Given the description of an element on the screen output the (x, y) to click on. 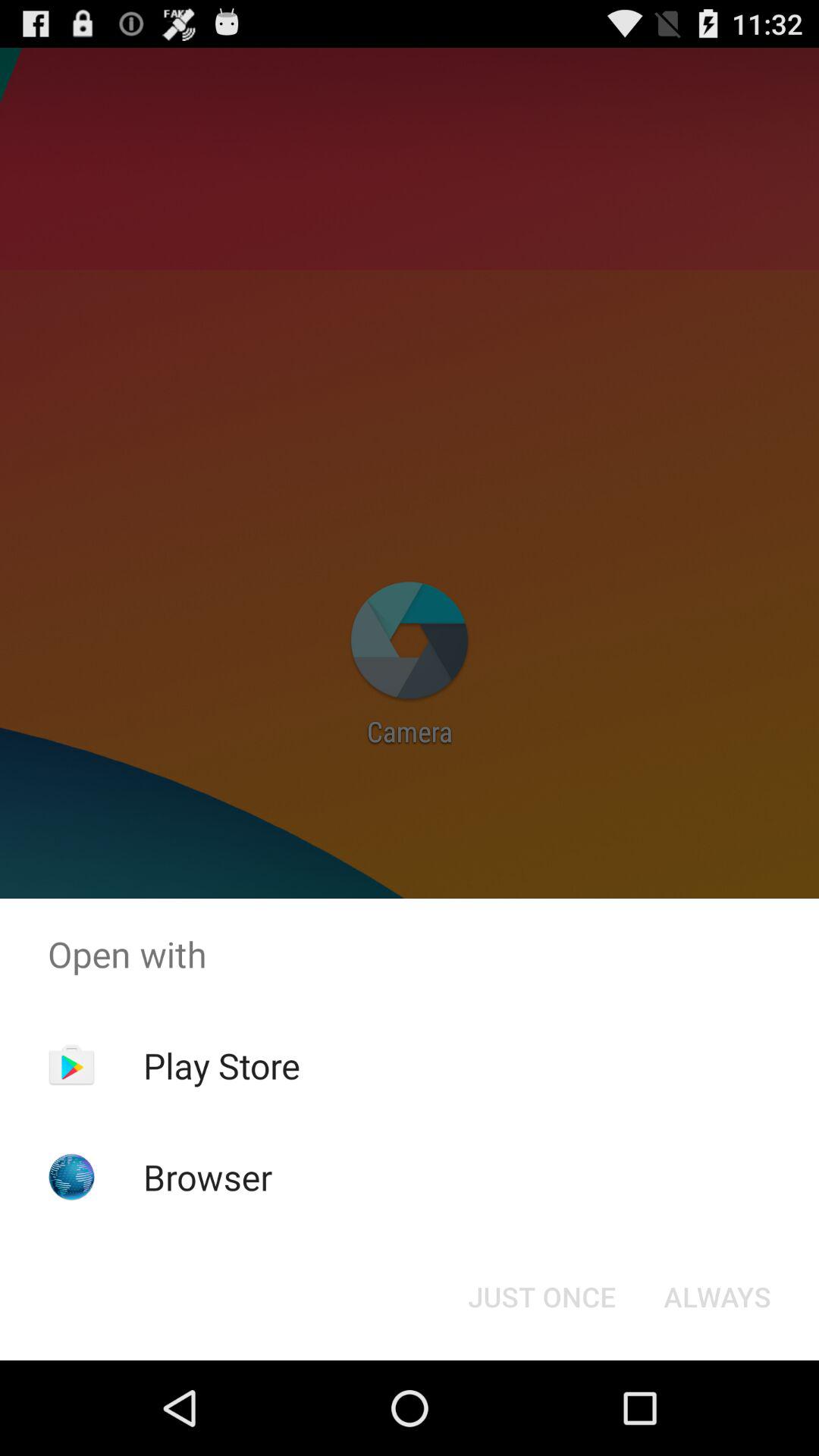
scroll to the always (717, 1296)
